Given the description of an element on the screen output the (x, y) to click on. 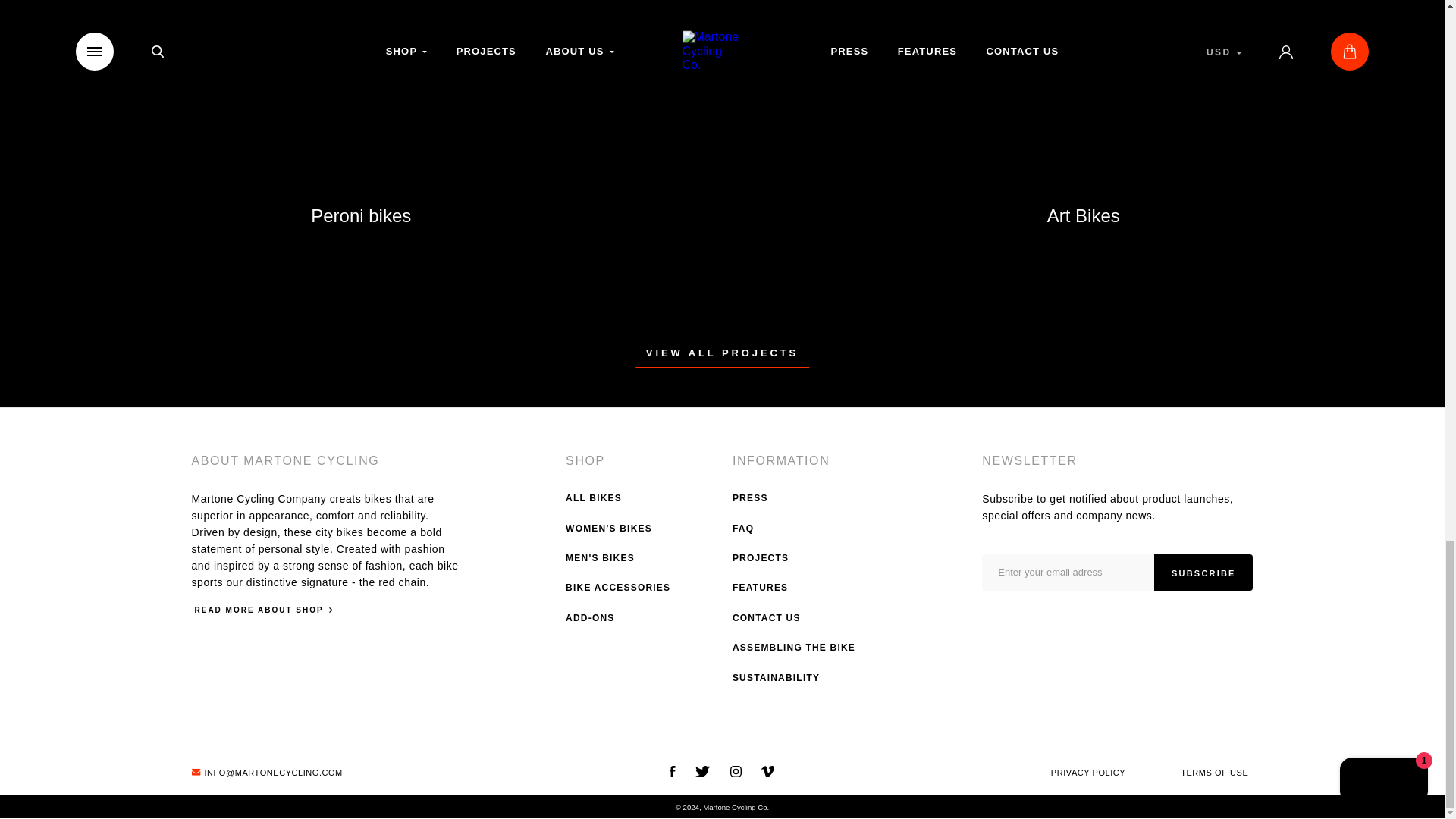
Martone Cycling Co. on Vimeo (767, 772)
Martone Cycling Co. on Twitter (702, 772)
